Given the description of an element on the screen output the (x, y) to click on. 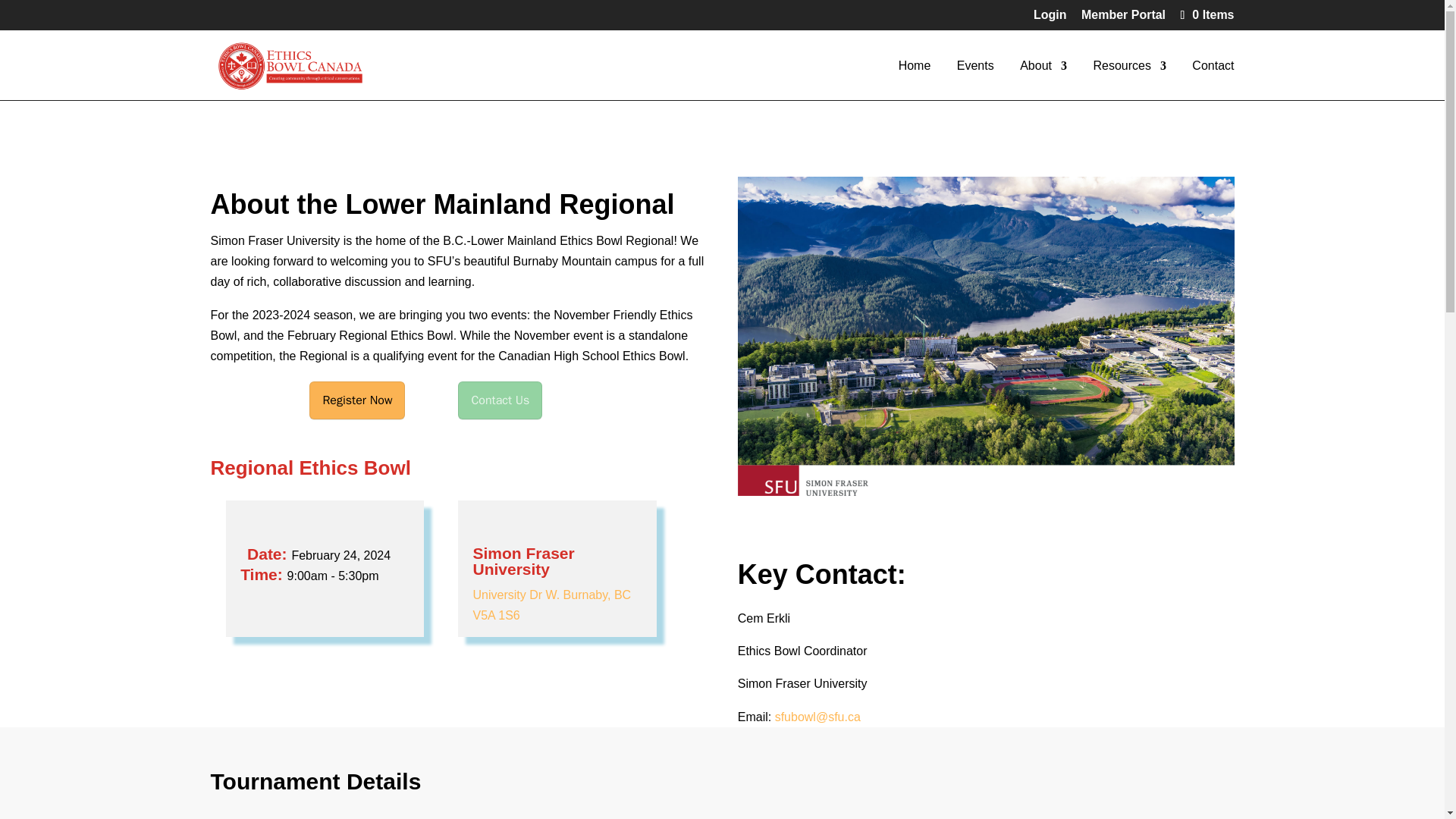
Login (1050, 19)
0 Items (1204, 14)
Events (975, 79)
Home (914, 79)
About (1043, 79)
Member Portal (1123, 19)
Resources (1129, 79)
Contact (1212, 79)
